Given the description of an element on the screen output the (x, y) to click on. 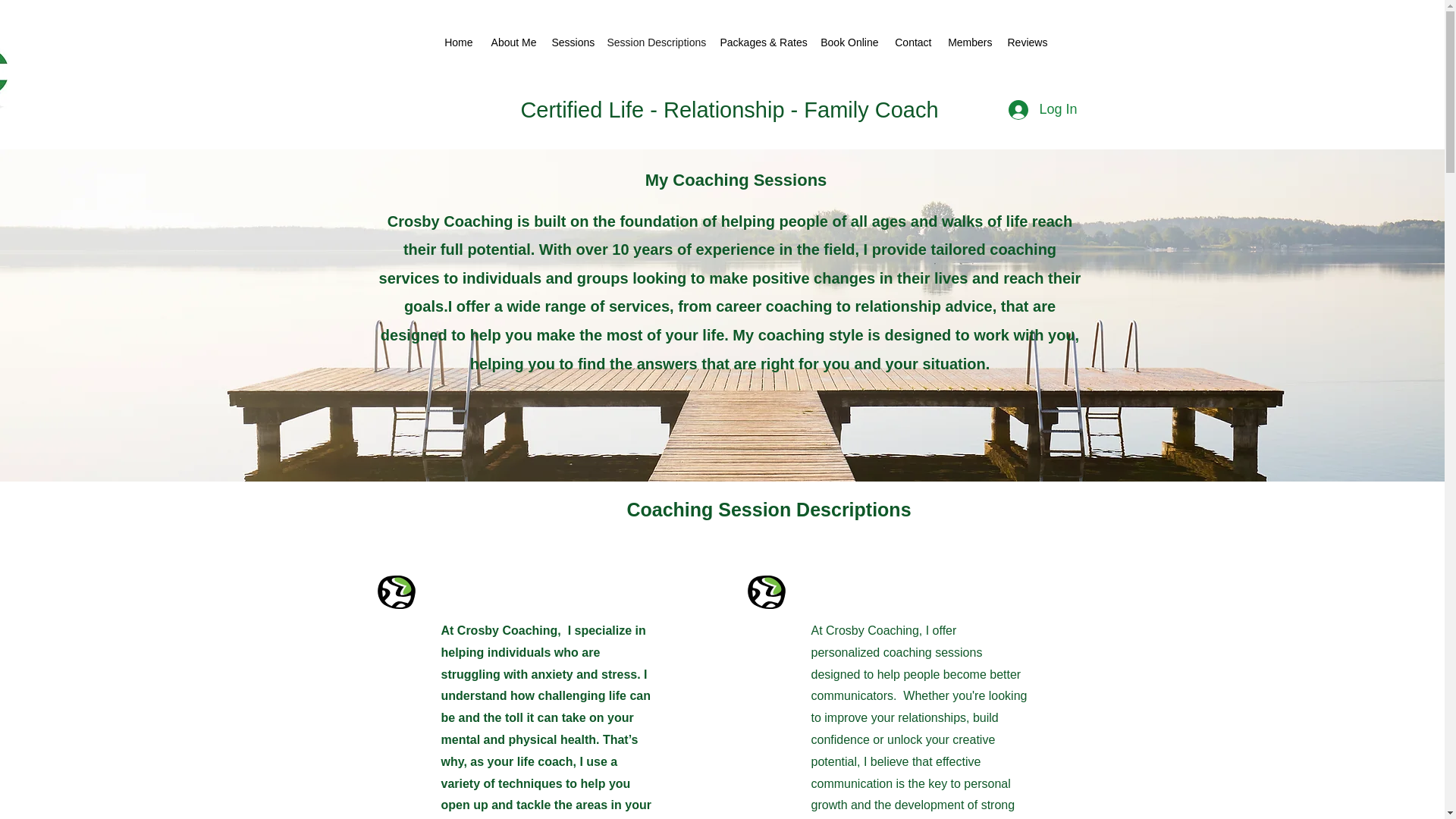
Book Online (847, 42)
Sessions (571, 42)
Members (968, 42)
My Coaching Sessions (736, 179)
Reviews (1024, 42)
About Me (512, 42)
Certified Life - Relationship - Family Coach (728, 109)
Log In (1042, 109)
Session Descriptions (654, 42)
Contact (912, 42)
